Given the description of an element on the screen output the (x, y) to click on. 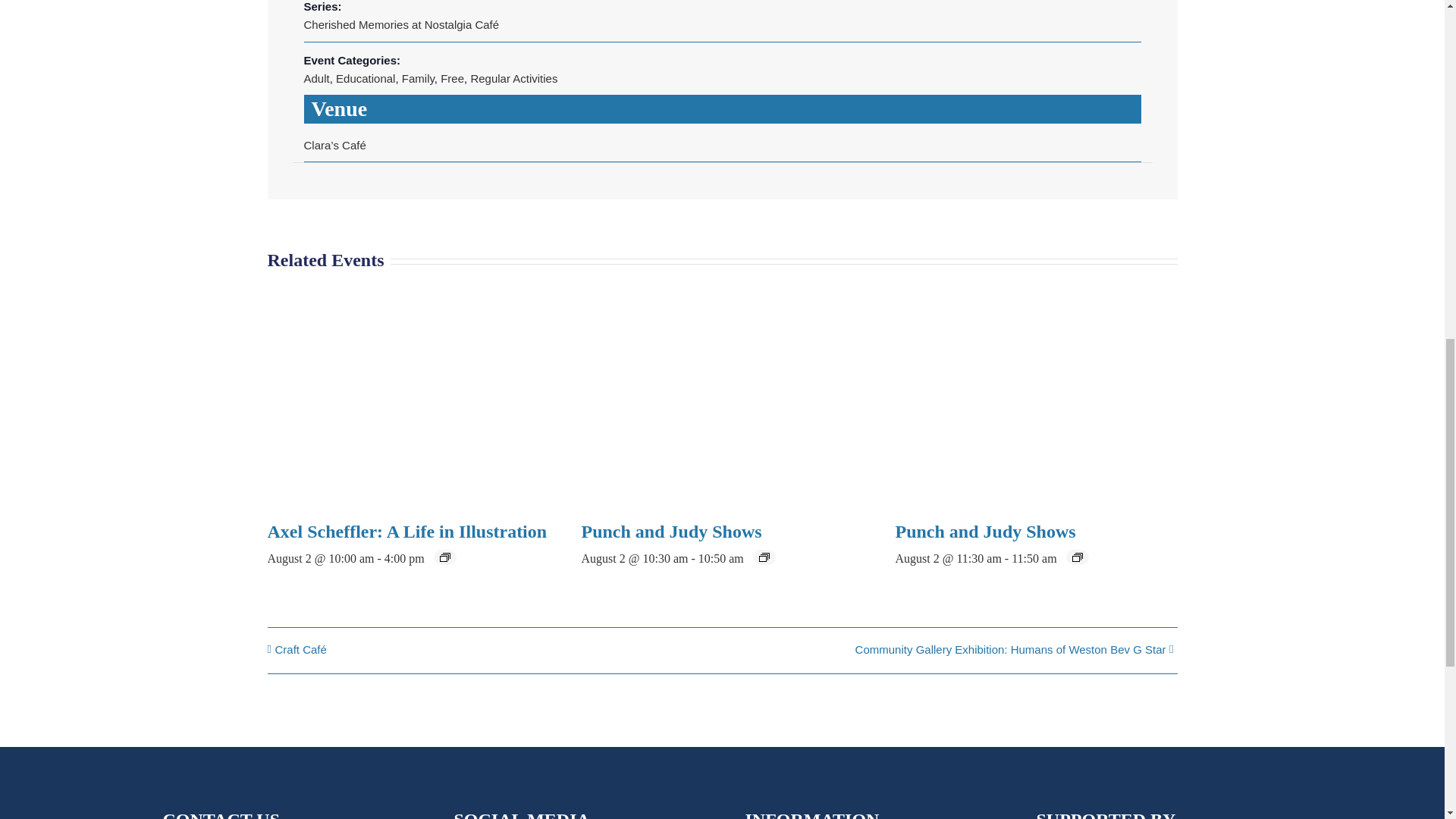
Event Series (1077, 556)
Event Series (444, 556)
Event Series (764, 556)
